Given the description of an element on the screen output the (x, y) to click on. 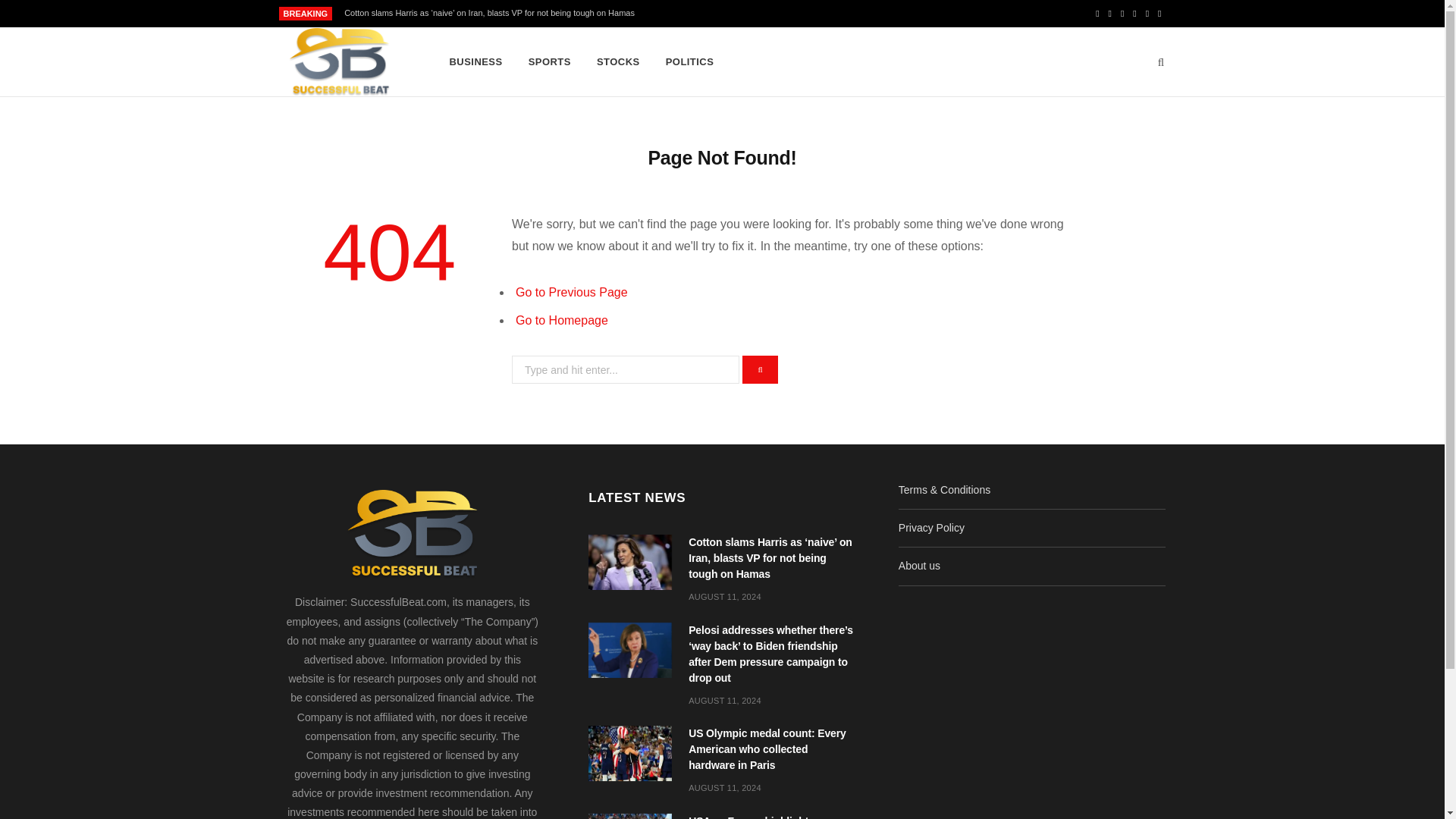
SPORTS (549, 61)
AUGUST 11, 2024 (724, 596)
Successful Beat (339, 61)
AUGUST 11, 2024 (724, 700)
STOCKS (617, 61)
Privacy Policy (930, 527)
Go to Previous Page (571, 291)
Search for: (625, 369)
